Given the description of an element on the screen output the (x, y) to click on. 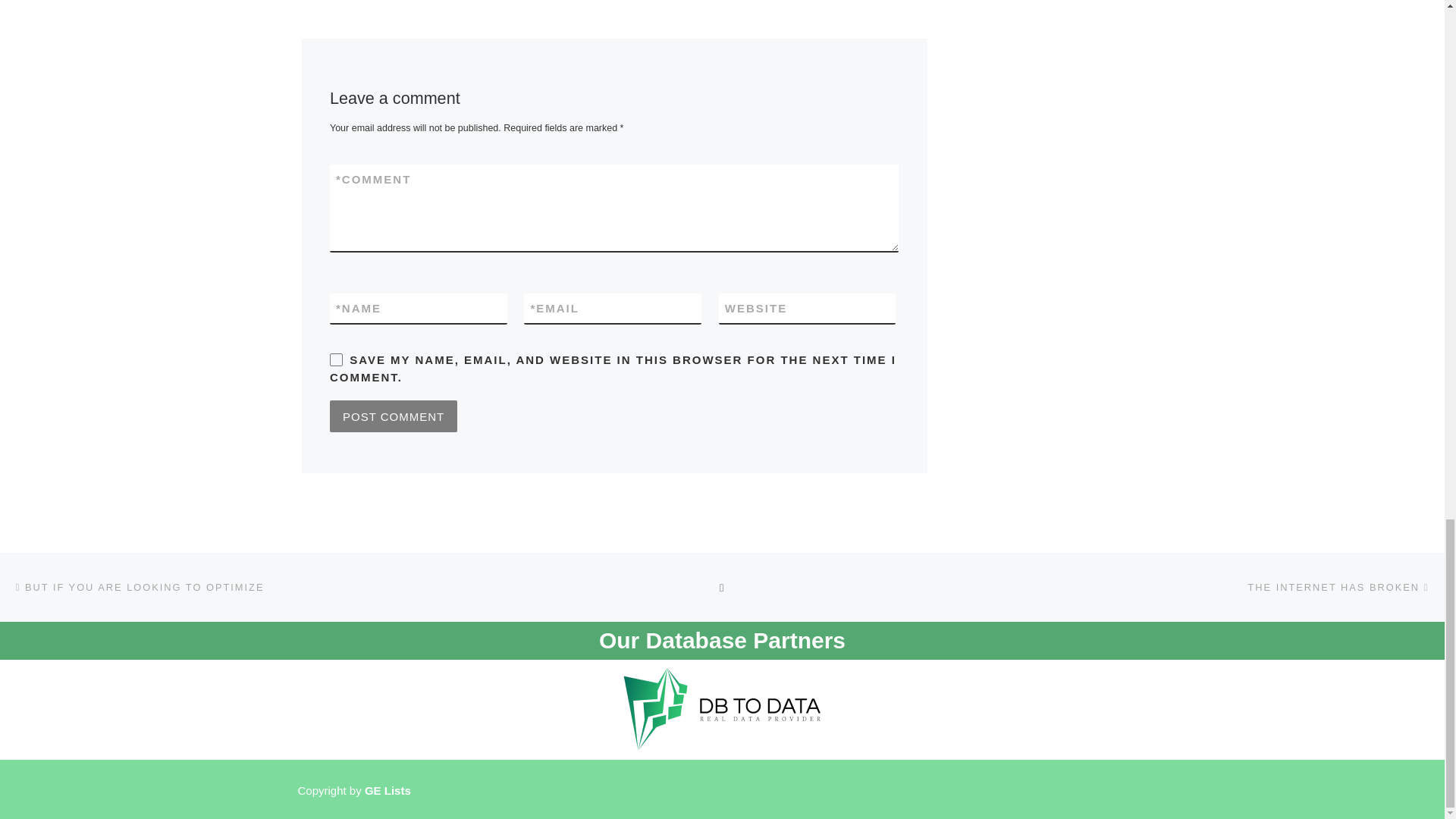
yes (336, 359)
Post Comment (393, 416)
